Given the description of an element on the screen output the (x, y) to click on. 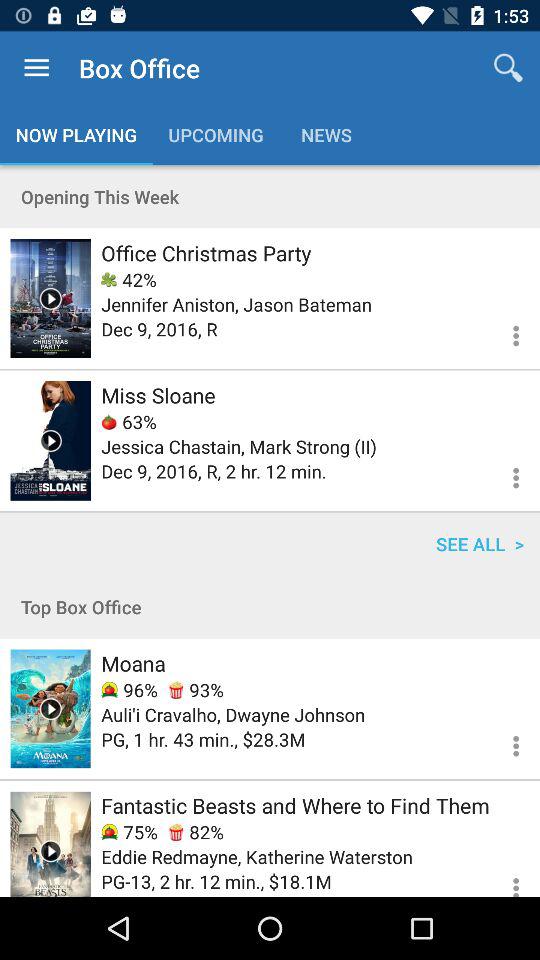
get more info (503, 475)
